Given the description of an element on the screen output the (x, y) to click on. 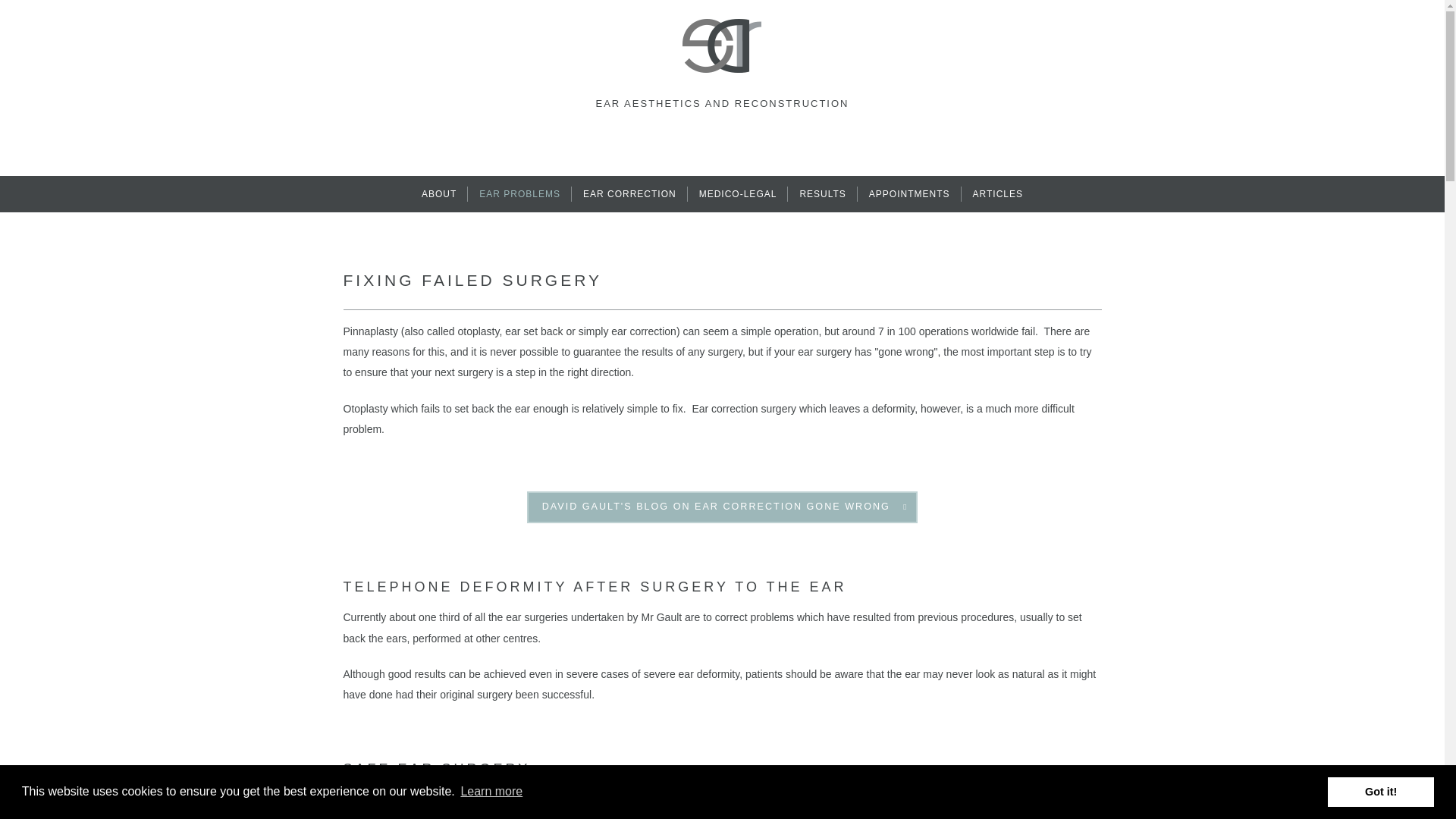
EAR by David Gault FRCS (722, 45)
Learn more (491, 791)
Got it! (1380, 791)
